Given the description of an element on the screen output the (x, y) to click on. 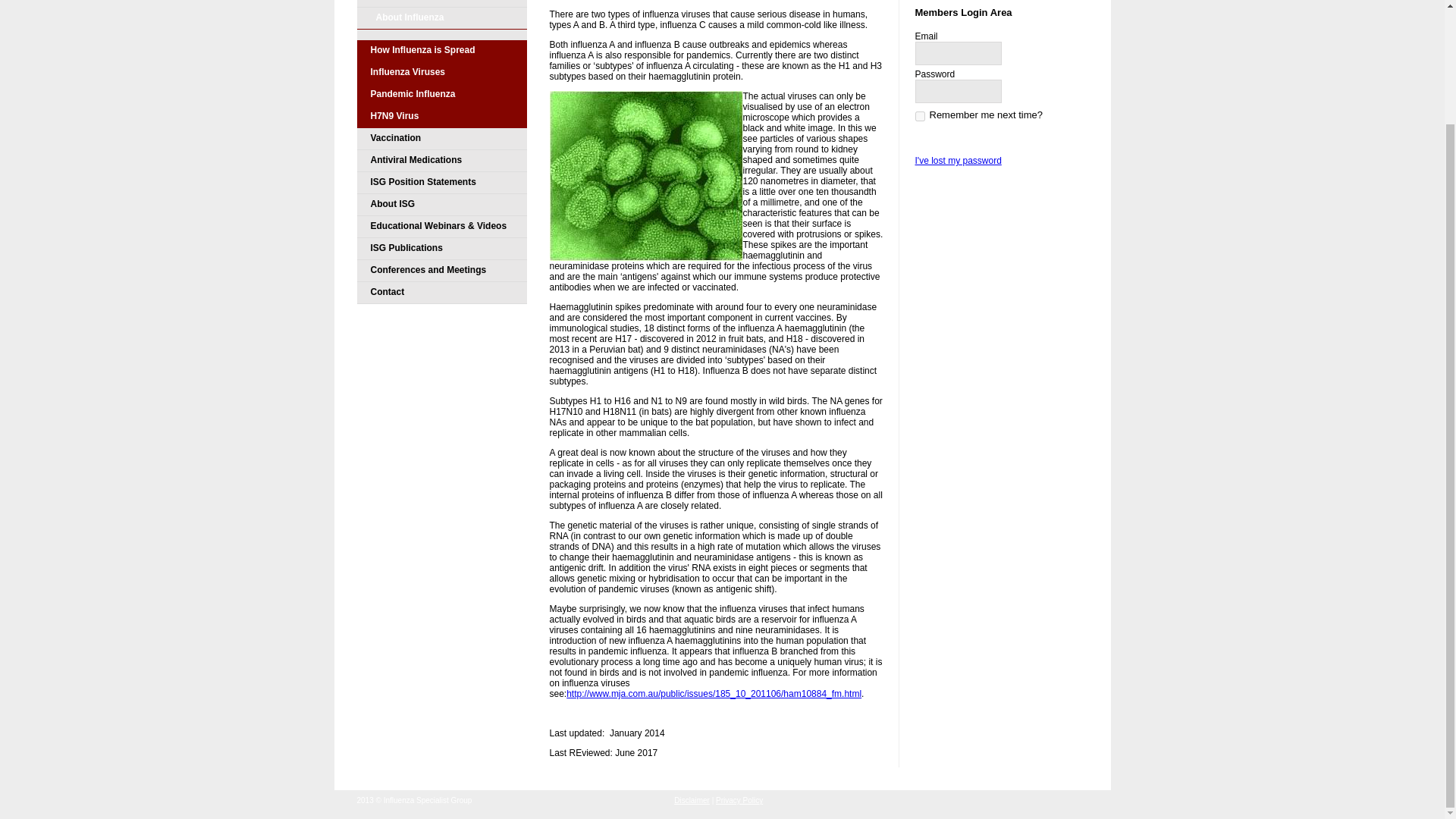
ISG Publications (440, 249)
ISG Publications (440, 249)
I've lost my password (957, 160)
ISG Position Statements (440, 182)
About ISG (440, 205)
Home (440, 3)
Go to the H7N9 Virus page (440, 116)
ISG Position Statements (440, 182)
Conferences and Meetings (440, 270)
Log in (948, 140)
H7N9 Virus (440, 116)
Influenza Viruses (440, 73)
1 (919, 116)
Go to the Pandemic Influenza page (440, 95)
Go to the Influenza Viruses page (440, 73)
